Given the description of an element on the screen output the (x, y) to click on. 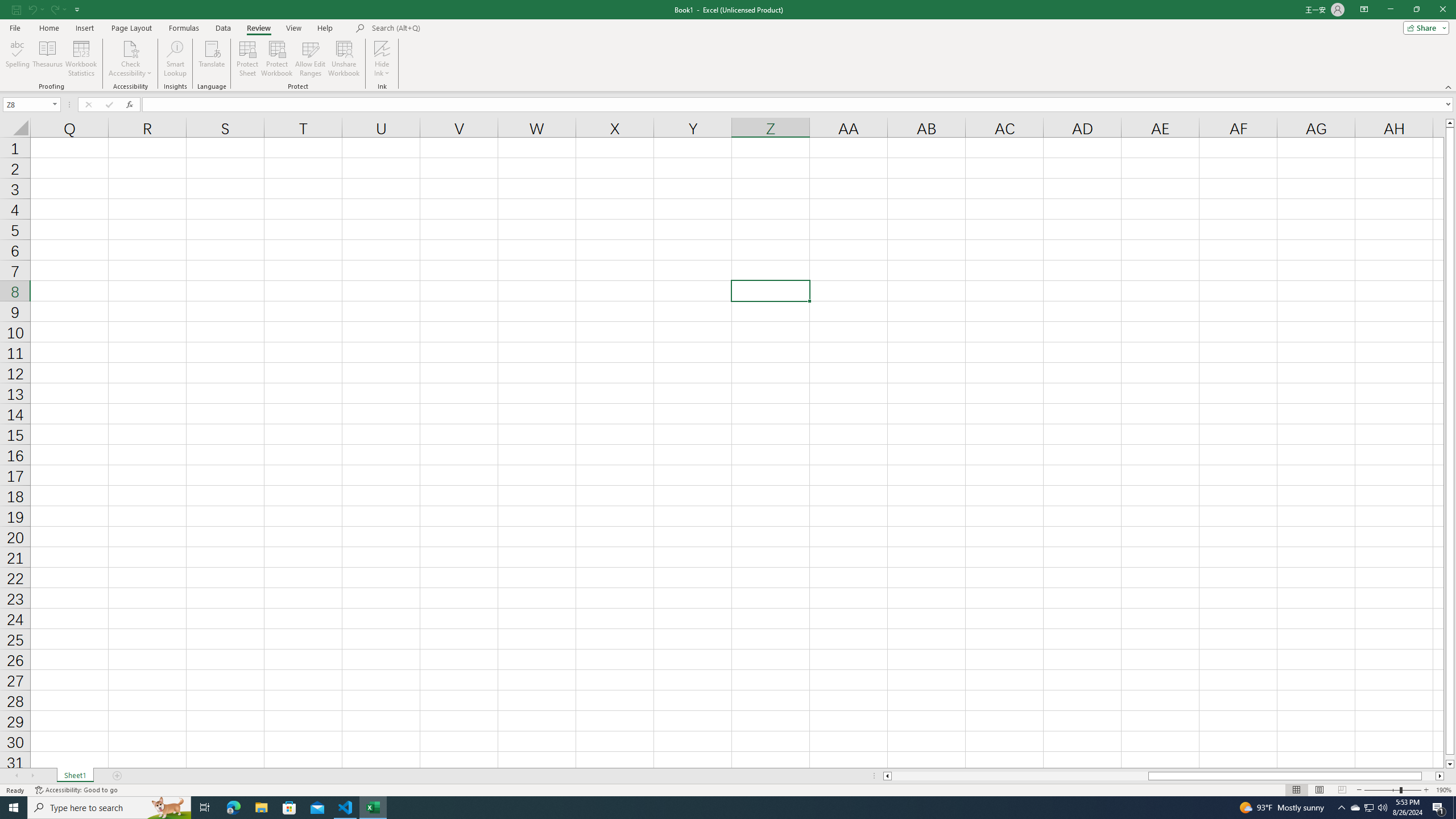
More Options (381, 68)
Sheet1 (74, 775)
Share (1423, 27)
Undo (31, 9)
Line down (1449, 764)
Check Accessibility (129, 48)
Microsoft search (450, 28)
Class: NetUIScrollBar (1163, 775)
Check Accessibility (129, 58)
Redo (57, 9)
Page down (1449, 757)
Open (54, 104)
